Given the description of an element on the screen output the (x, y) to click on. 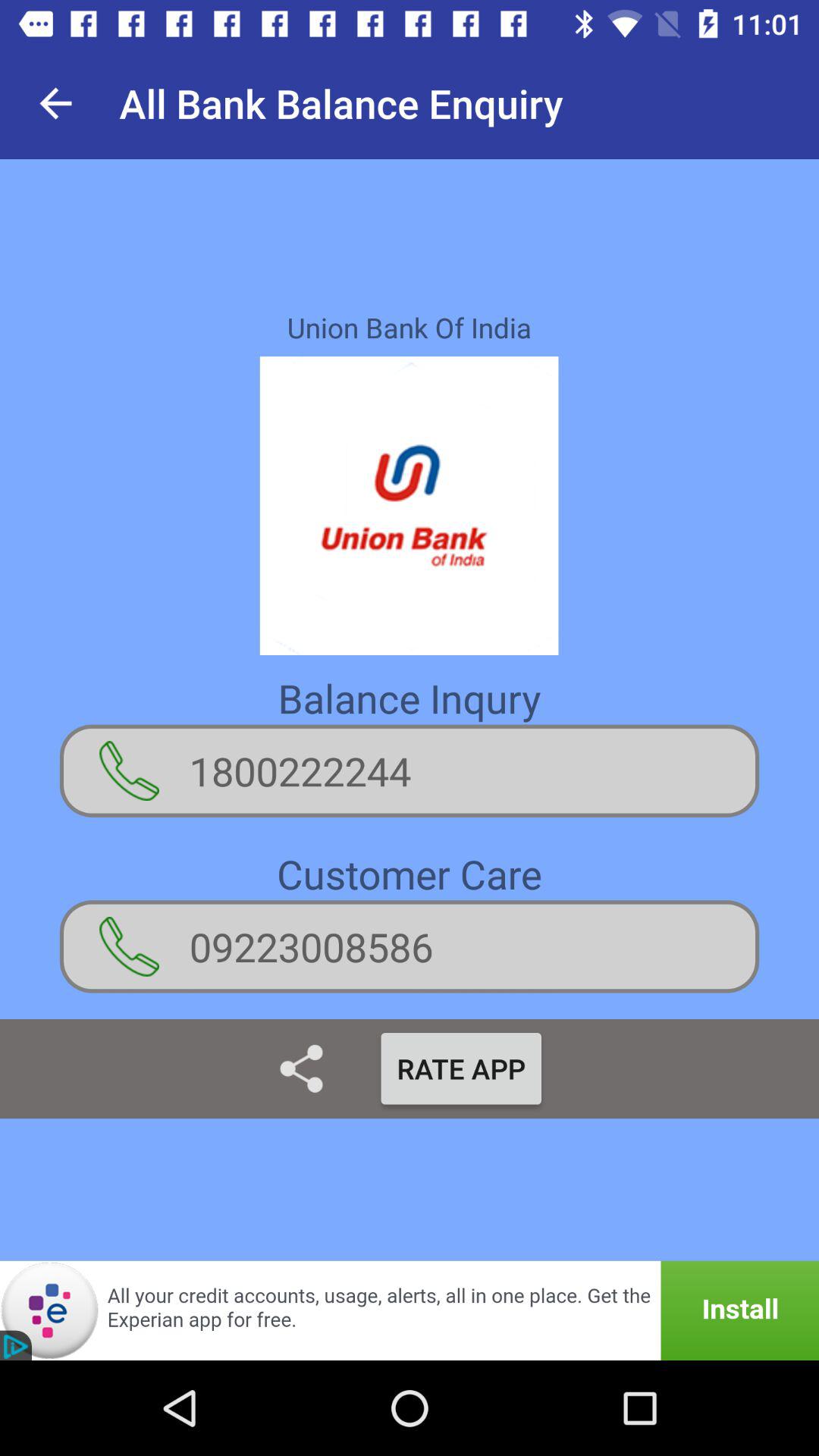
open item below 09223008586 item (461, 1068)
